Given the description of an element on the screen output the (x, y) to click on. 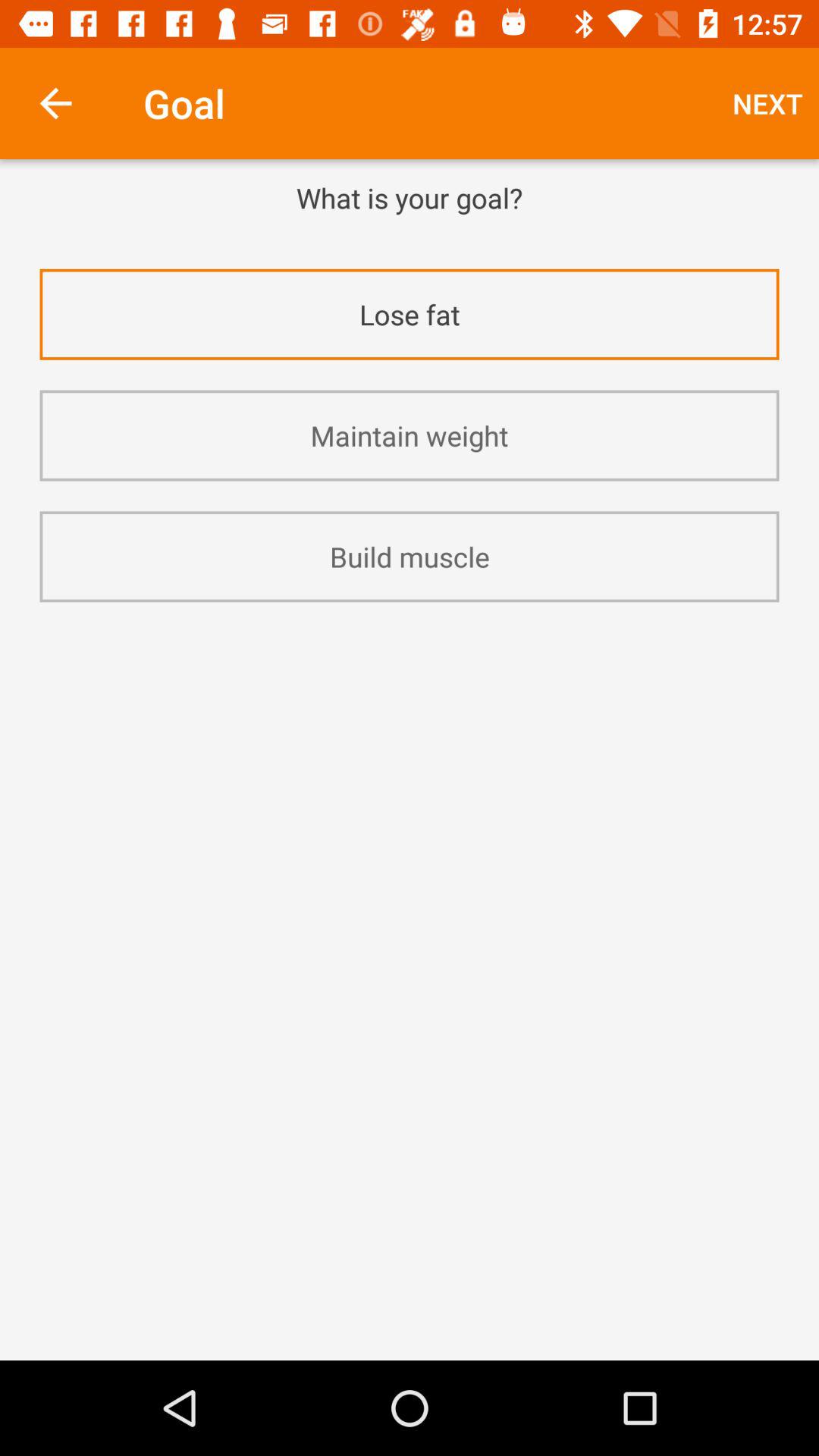
turn off the icon above the build muscle (409, 435)
